Given the description of an element on the screen output the (x, y) to click on. 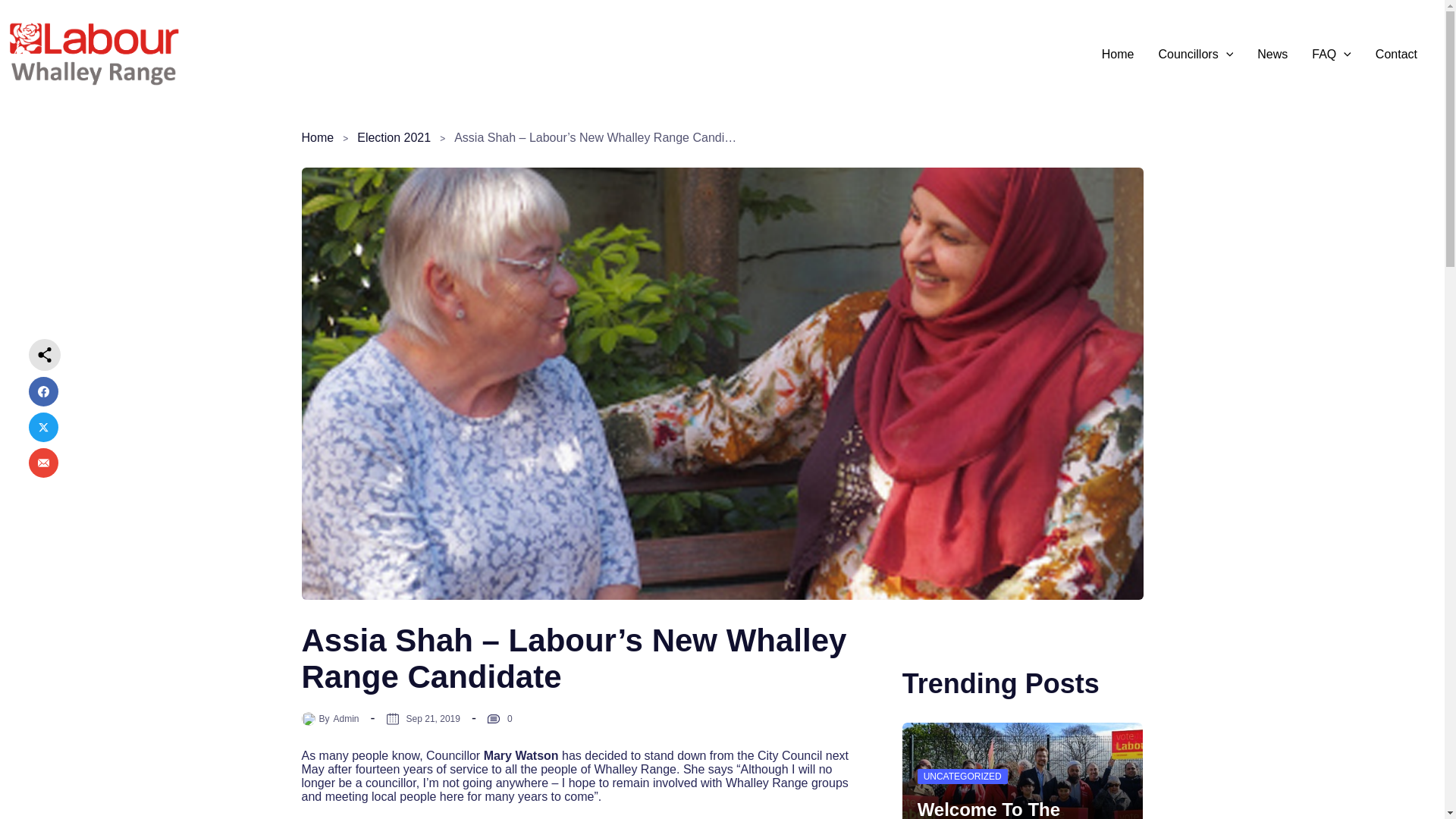
Councillors (1196, 54)
Contact (1395, 54)
Home (1118, 54)
News (1272, 54)
FAQ (1331, 54)
